Given the description of an element on the screen output the (x, y) to click on. 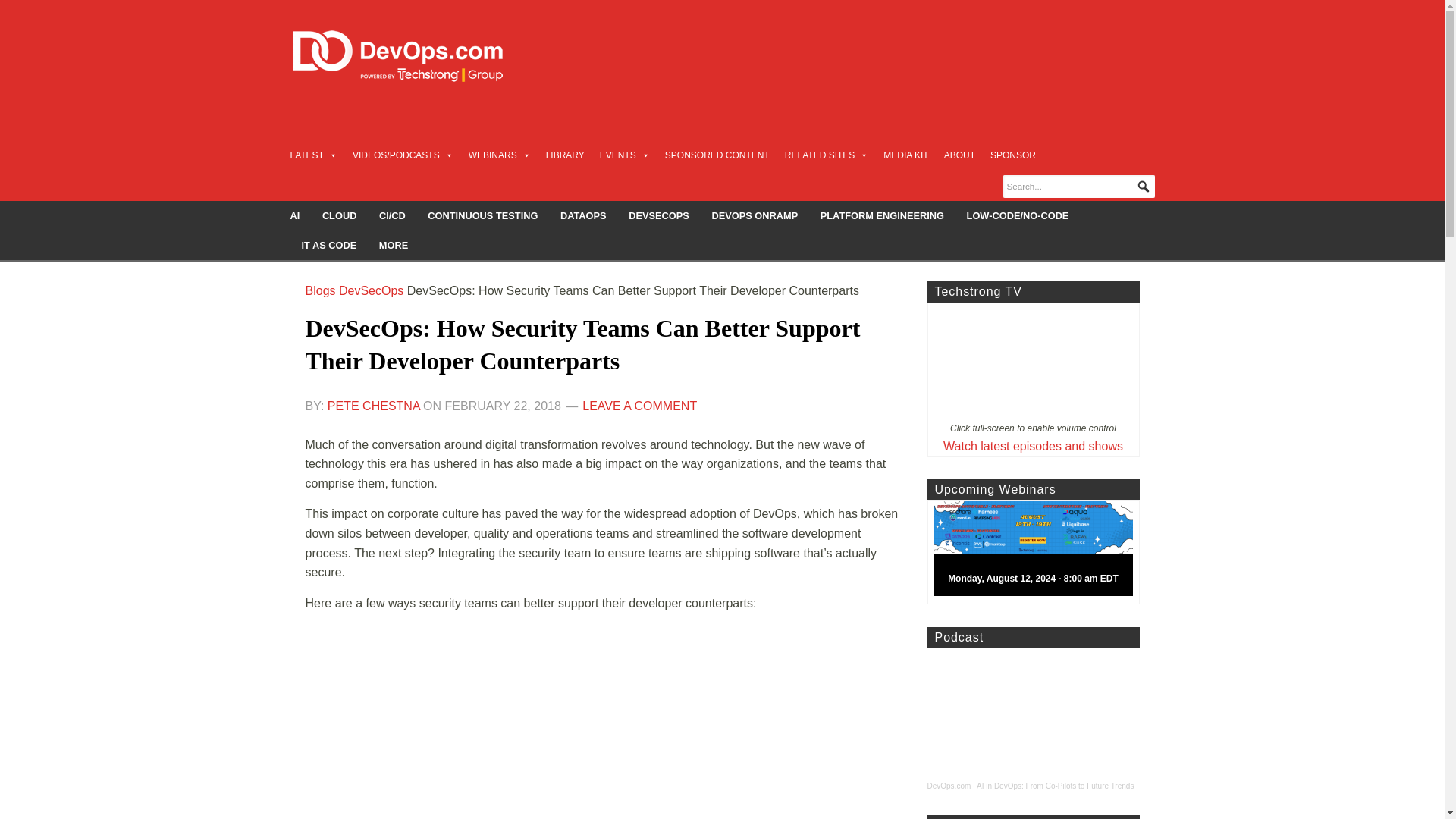
DEVOPS.COM (414, 56)
SPONSORED CONTENT (717, 155)
AI in DevOps: From Co-Pilots to Future Trends (1055, 786)
DevOps.com (948, 786)
LATEST (312, 155)
LIBRARY (565, 155)
EVENTS (624, 155)
Monday, August 12, 2024 - 8:00 am EDT (1038, 552)
RELATED SITES (825, 155)
WEBINARS (499, 155)
